Given the description of an element on the screen output the (x, y) to click on. 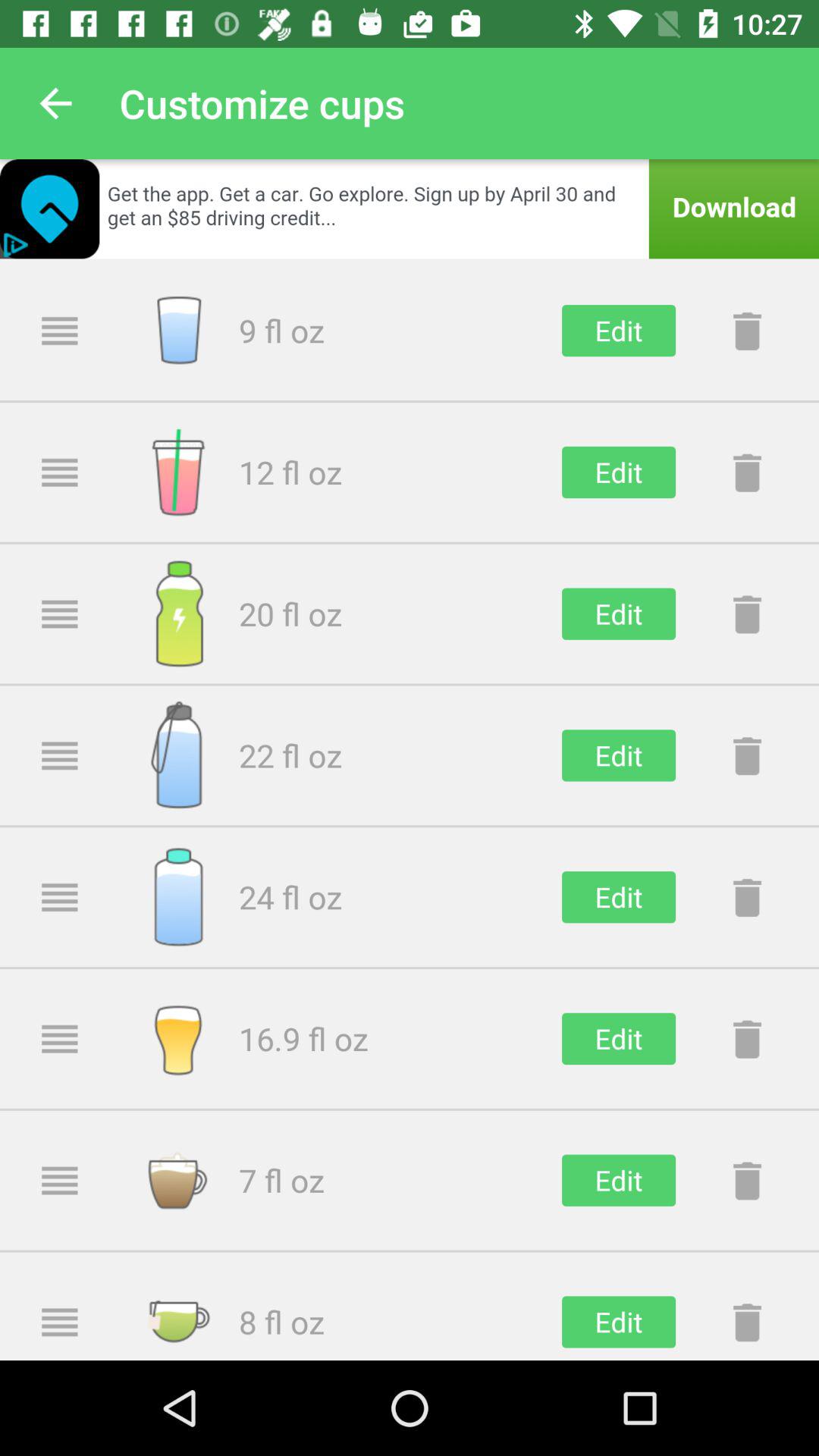
delete this item (747, 897)
